Given the description of an element on the screen output the (x, y) to click on. 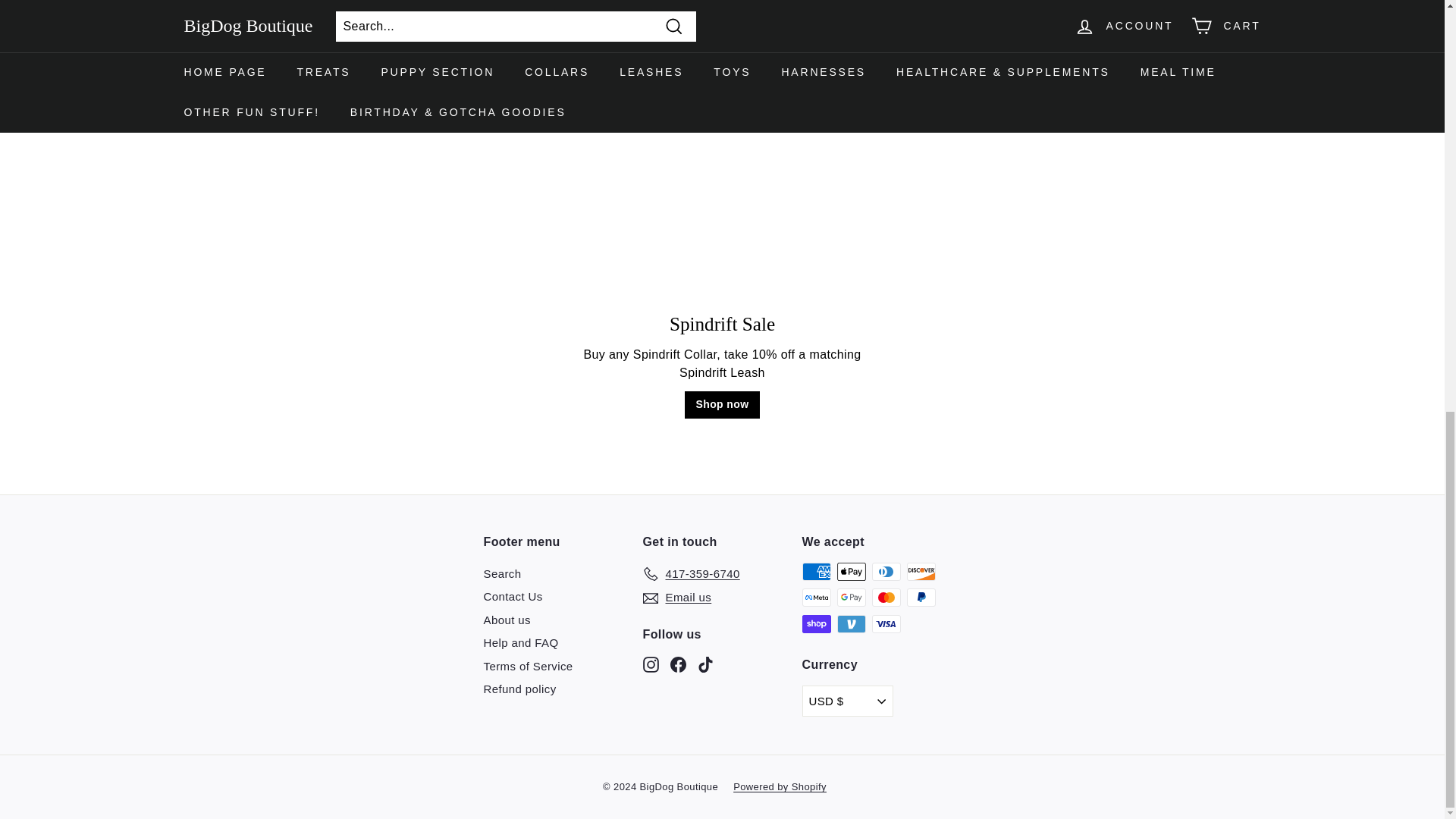
BigDog Boutique on Instagram (651, 663)
Apple Pay (851, 571)
Discover (921, 571)
BigDog Boutique on TikTok (705, 663)
American Express (816, 571)
Diners Club (886, 571)
BigDog Boutique on Facebook (677, 663)
